Given the description of an element on the screen output the (x, y) to click on. 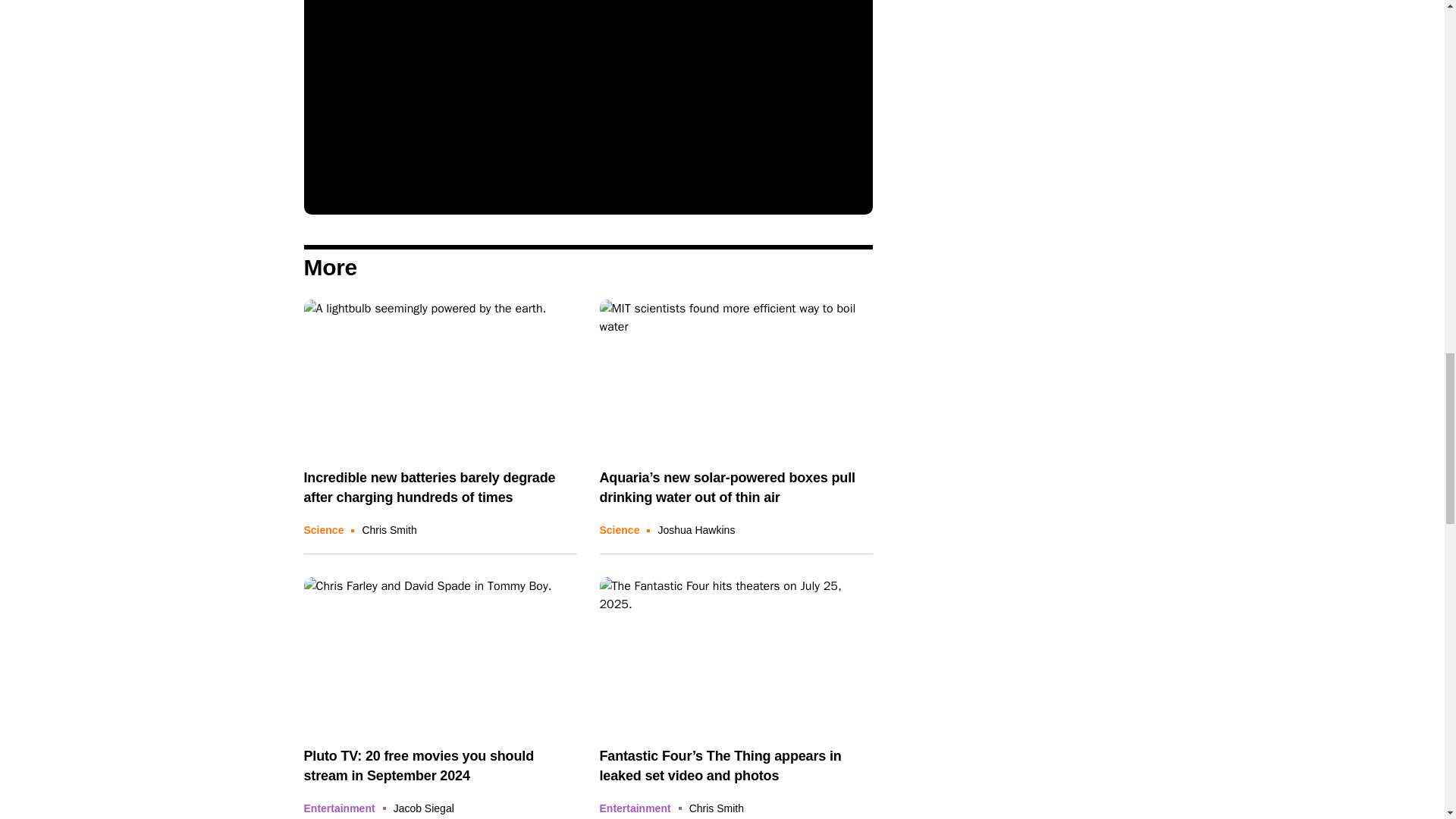
Posts by Joshua Hawkins (696, 530)
Pluto TV (439, 654)
Posts by Chris Smith (388, 530)
Posts by Chris Smith (716, 808)
Battery Tech (439, 376)
Posts by Jacob Siegal (423, 808)
Fantastic Four (735, 654)
pull clean drinking water out of the air (735, 376)
